Given the description of an element on the screen output the (x, y) to click on. 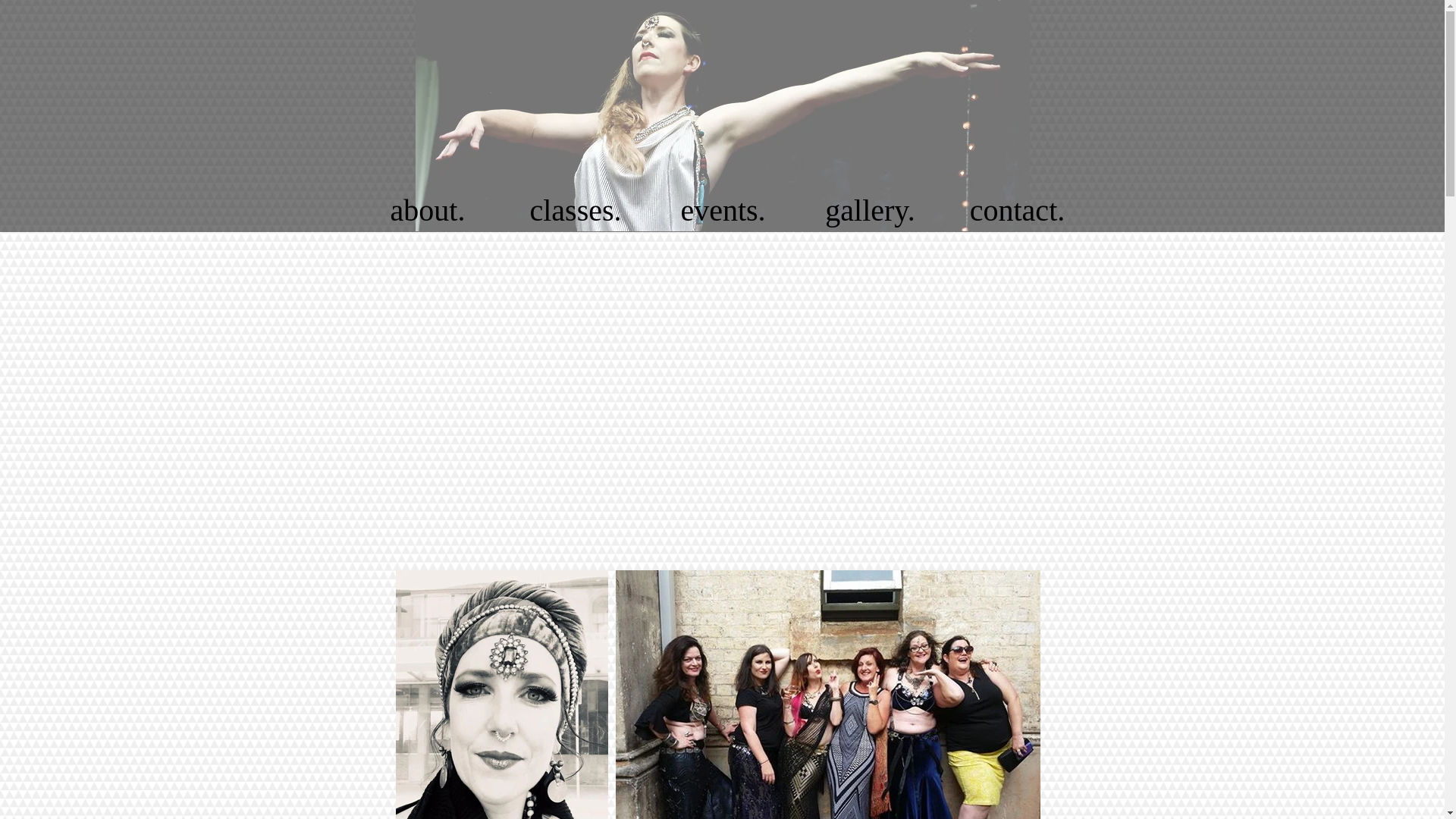
classes. Element type: text (575, 210)
gallery. Element type: text (869, 210)
events. Element type: text (722, 210)
about. Element type: text (427, 210)
contact. Element type: text (1016, 210)
